Given the description of an element on the screen output the (x, y) to click on. 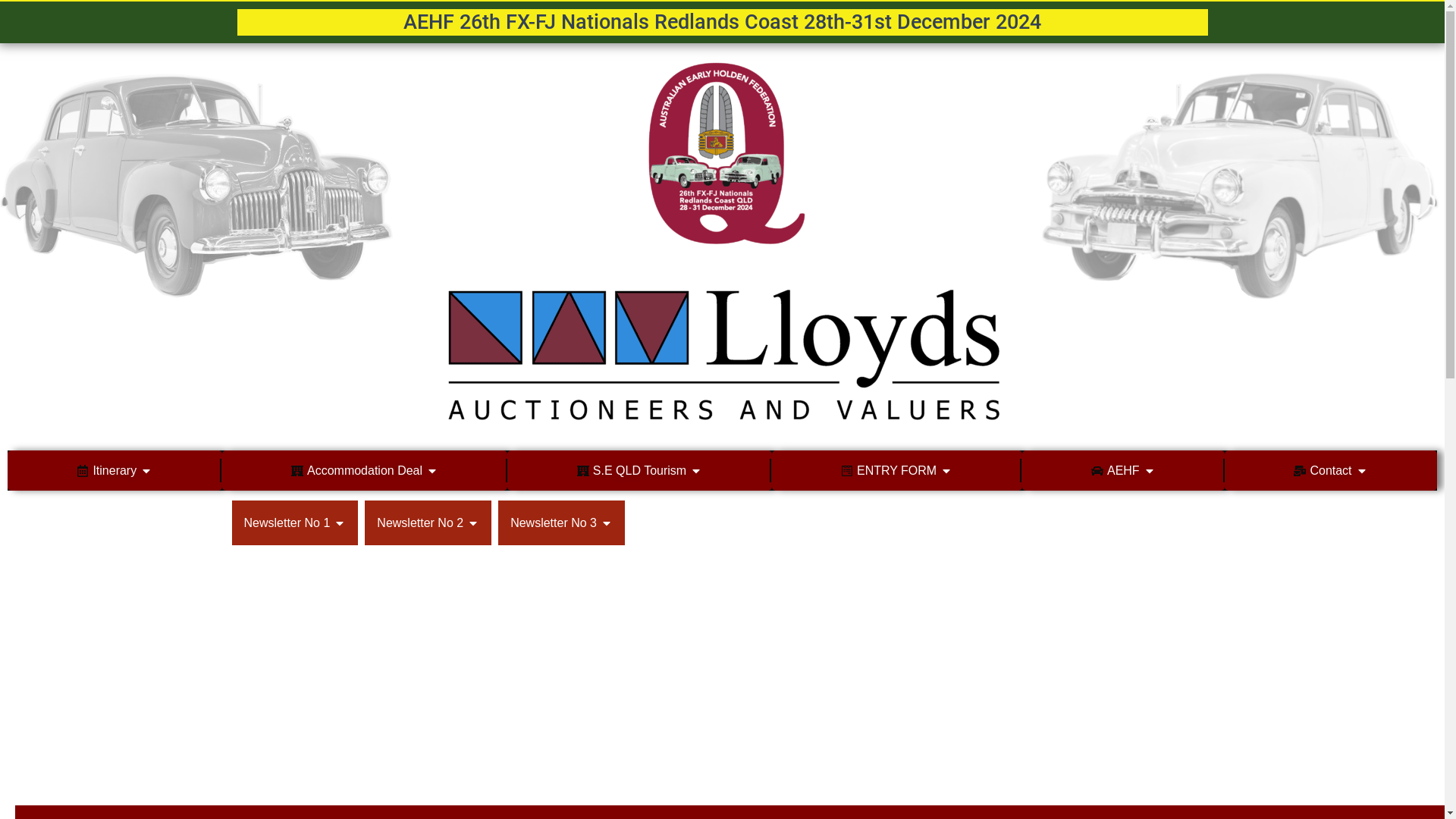
Newsletter No 3 Element type: text (561, 522)
AEHF Element type: text (1123, 470)
S.E QLD Tourism Element type: text (639, 470)
Newsletter No 1 Element type: text (295, 522)
redlands showgrounds Element type: hover (721, 676)
Accommodation Deal Element type: text (364, 470)
Newsletter No 2 Element type: text (427, 522)
Itinerary Element type: text (114, 470)
Contact Element type: text (1330, 470)
ENTRY FORM Element type: text (896, 470)
